Given the description of an element on the screen output the (x, y) to click on. 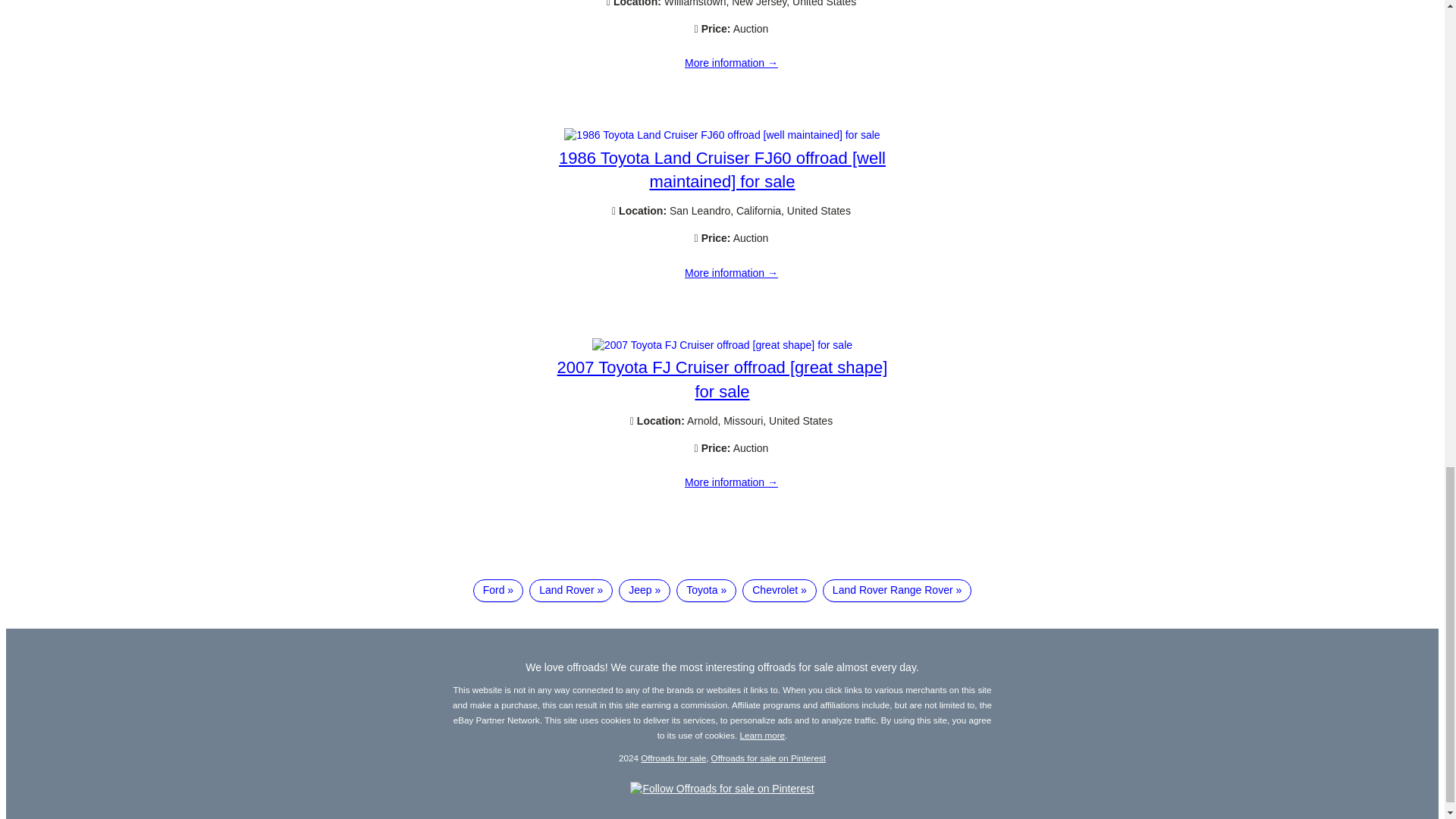
Land Rover Range Rover (896, 590)
Toyota (706, 590)
Jeep (643, 590)
Follow Offroads for sale on Pinterest (721, 788)
1987 Toyota Land Cruiser FJ60 for sale (731, 63)
Land Rover (570, 590)
Chevrolet (779, 590)
Offroads for sale (673, 757)
Learn more (762, 735)
Ford (497, 590)
